Given the description of an element on the screen output the (x, y) to click on. 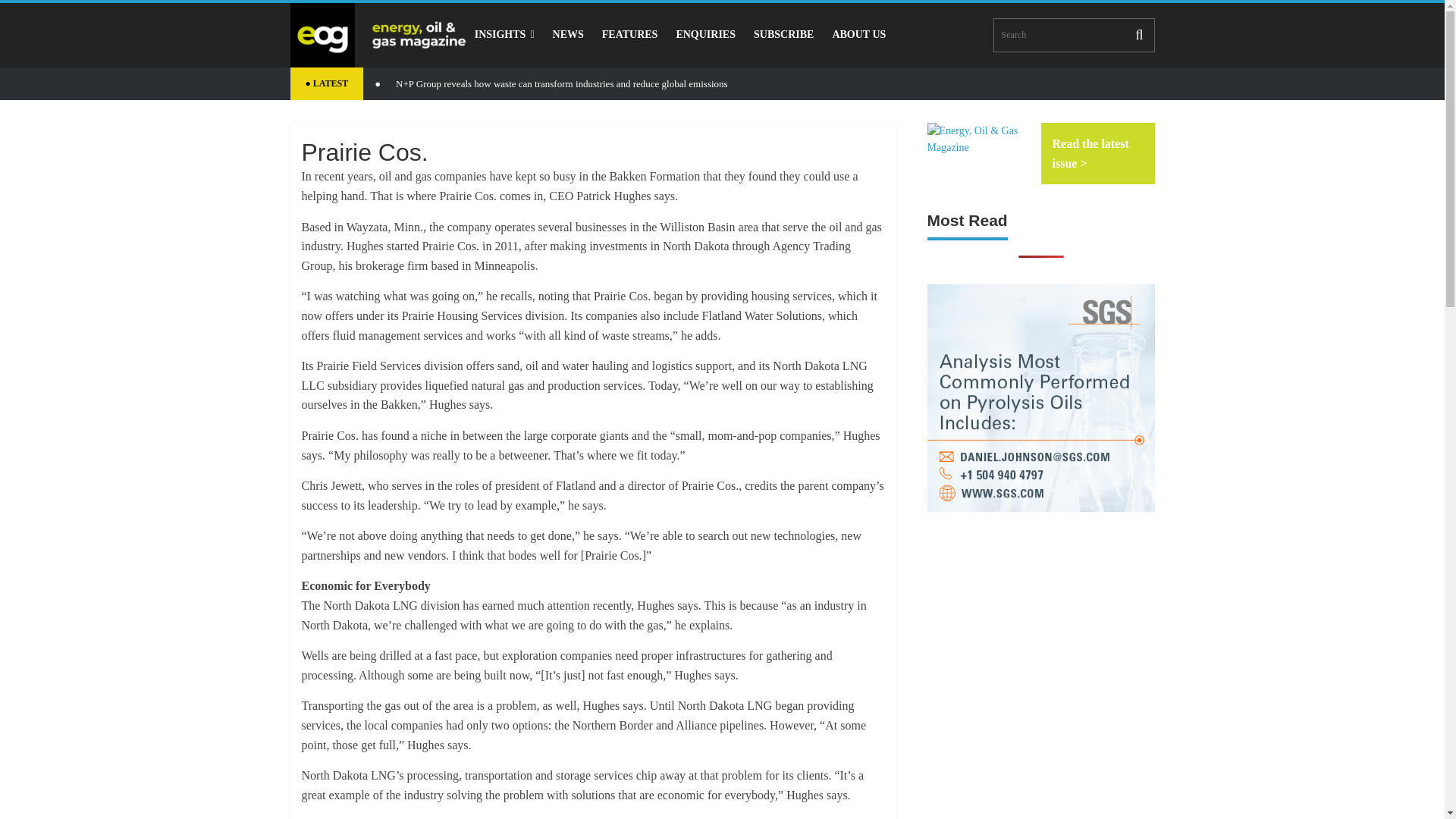
ENQUIRIES (705, 34)
NEWS (567, 34)
ABOUT US (858, 34)
FEATURES (629, 34)
INSIGHTS (504, 34)
SUBSCRIBE (783, 34)
